Given the description of an element on the screen output the (x, y) to click on. 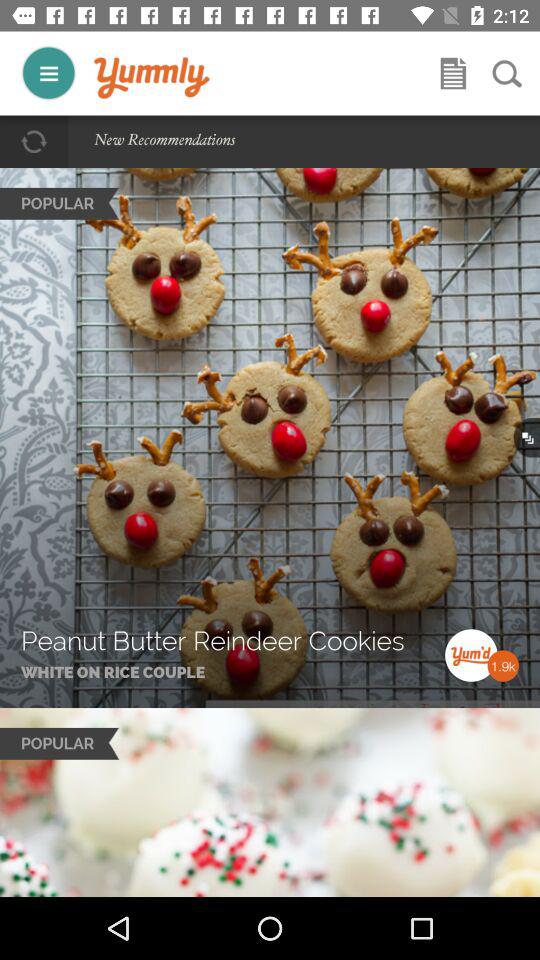
choose the item above new recommendations (152, 77)
